Given the description of an element on the screen output the (x, y) to click on. 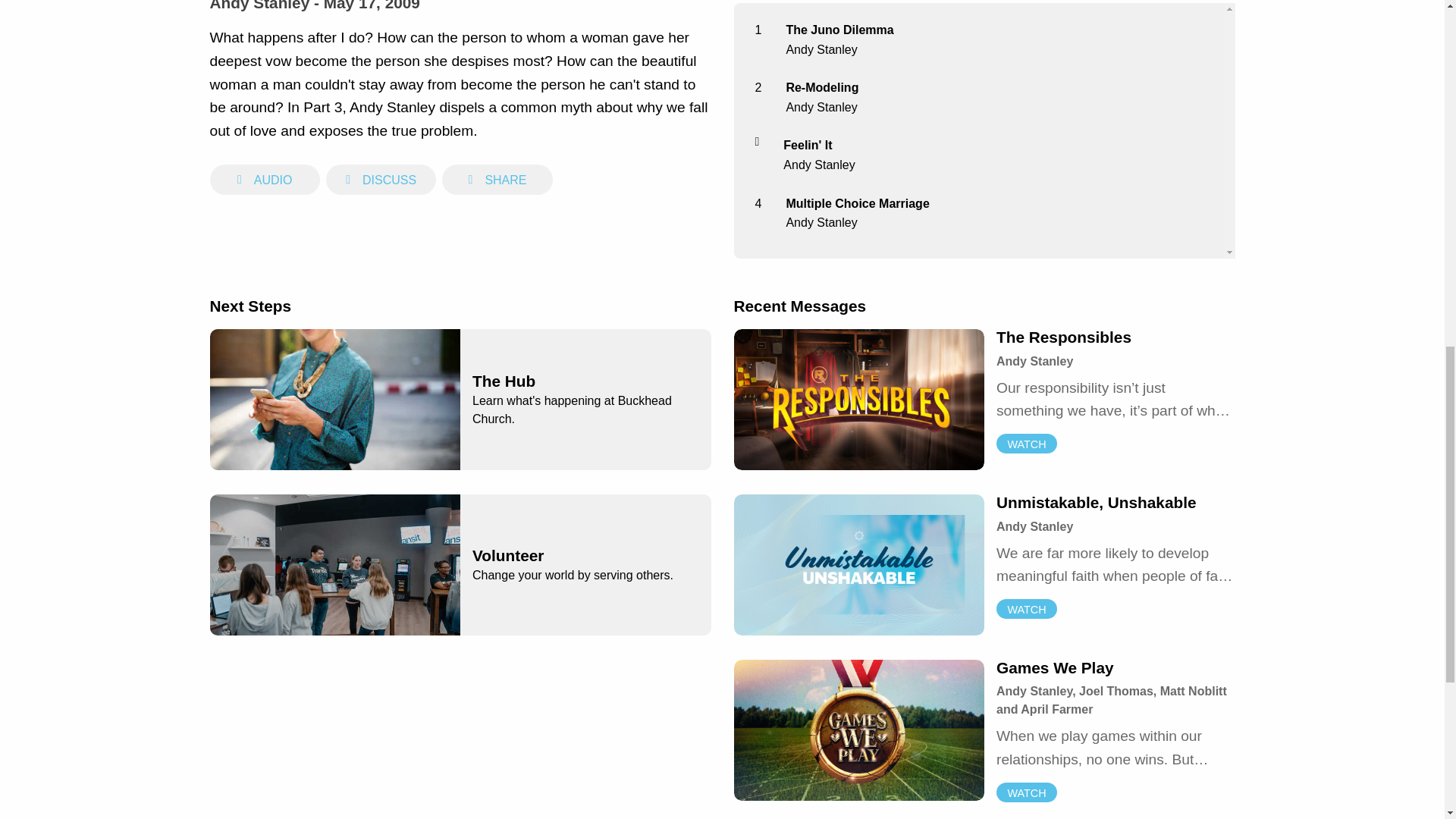
Feelin' It (807, 144)
DISCUSS (380, 179)
WATCH (1026, 608)
The Juno Dilemma (839, 29)
SHARE (497, 179)
WATCH (1026, 443)
AUDIO (263, 179)
Multiple Choice Marriage (857, 203)
Share (497, 179)
WATCH (1026, 792)
